Given the description of an element on the screen output the (x, y) to click on. 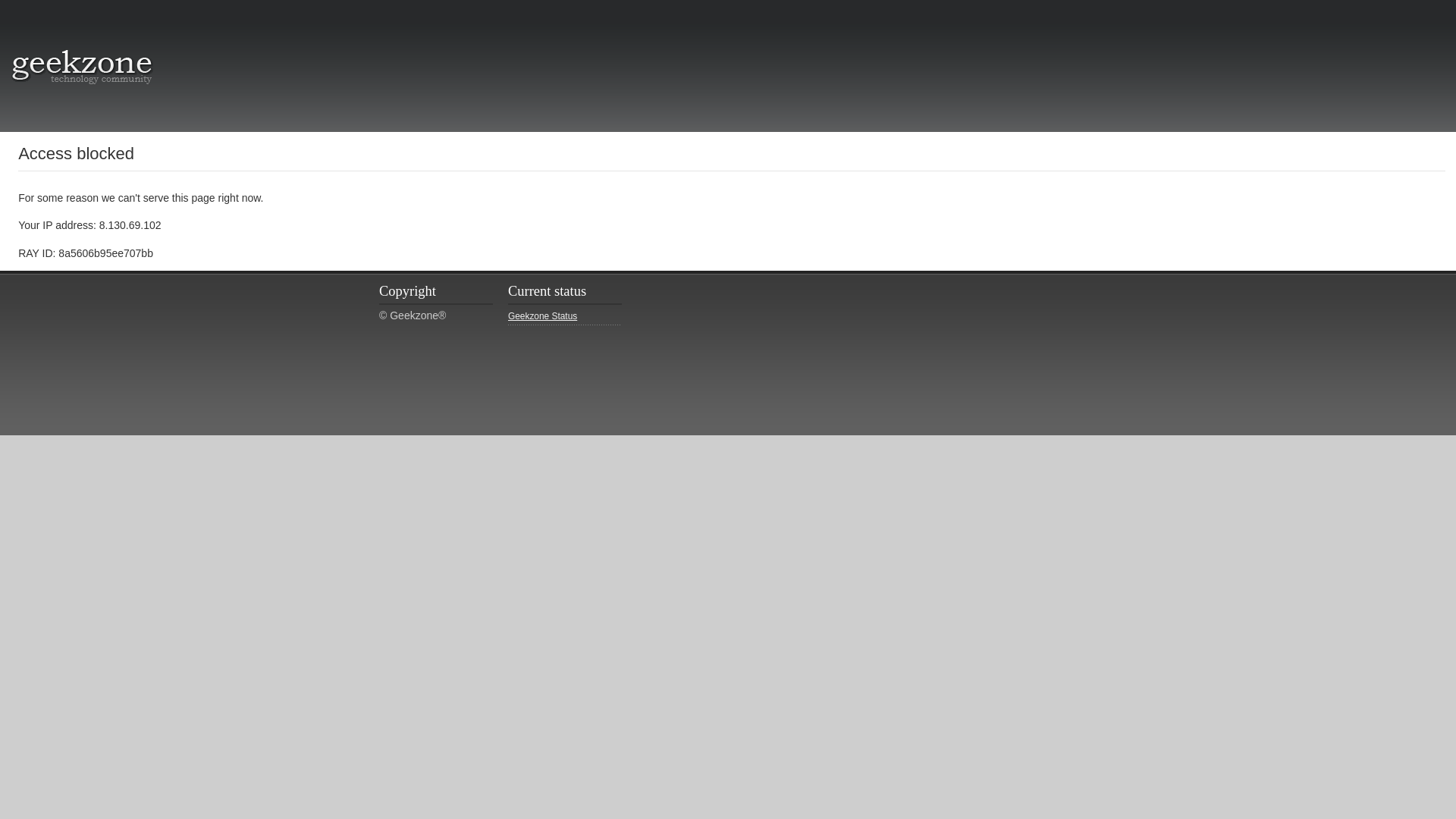
Geekzone Status (564, 316)
